Given the description of an element on the screen output the (x, y) to click on. 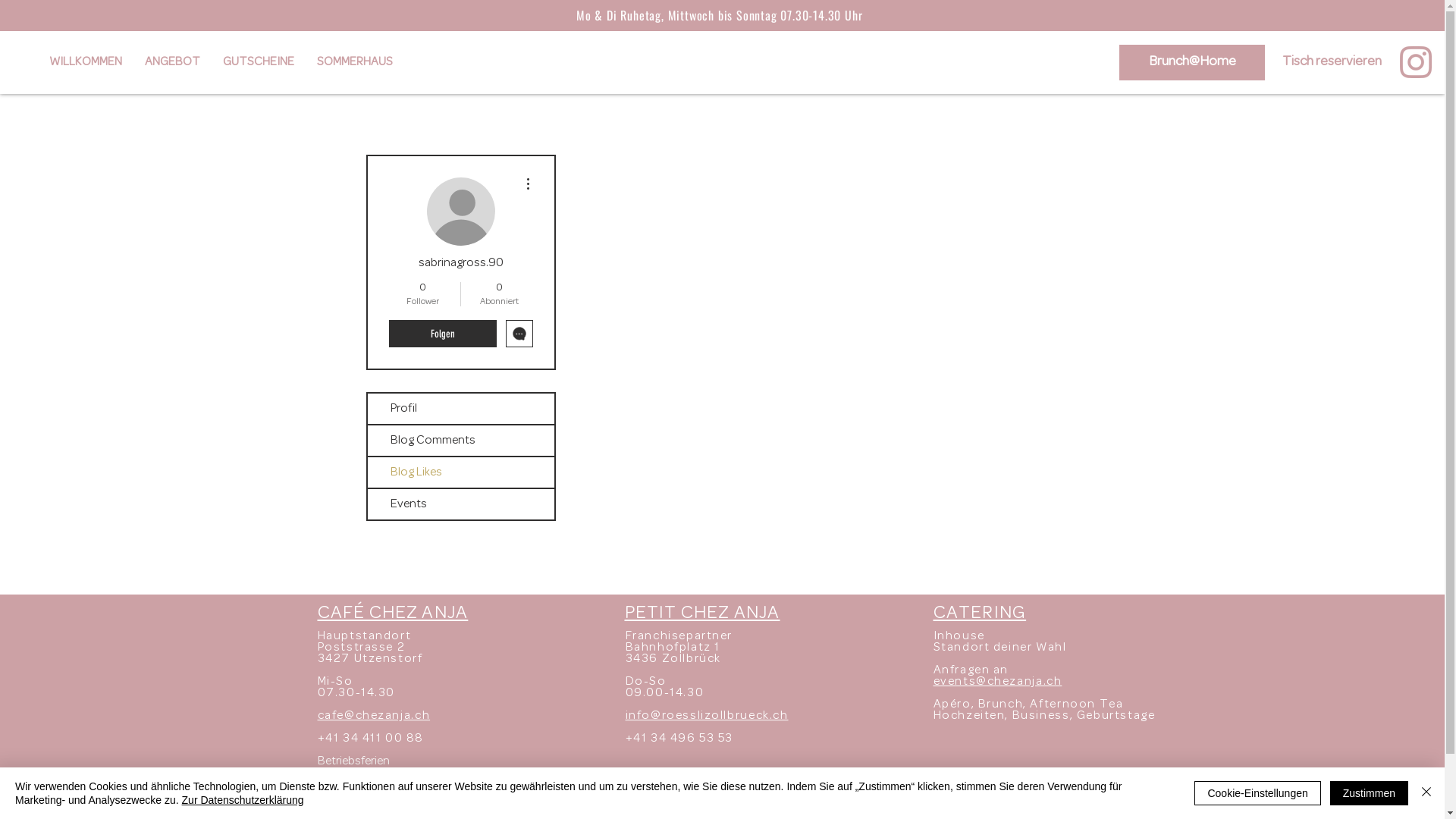
0
Abonniert Element type: text (499, 293)
0 Element type: text (1194, 61)
0
Follower Element type: text (421, 293)
Folgen Element type: text (441, 333)
events@chezanja.ch Element type: text (996, 681)
SOMMERHAUS Element type: text (354, 62)
Brunch@Home Element type: text (1191, 62)
PETIT CHEZ ANJA Element type: text (702, 613)
Profil Element type: text (460, 408)
Events Element type: text (460, 504)
Tisch reservieren Element type: text (1331, 62)
Blog Comments Element type: text (460, 440)
CATERING Element type: text (979, 613)
info@roesslizollbrueck.ch Element type: text (705, 715)
cafe@chezanja.ch Element type: text (372, 715)
Blog Likes Element type: text (460, 472)
GUTSCHEINE Element type: text (258, 62)
WILLKOMMEN Element type: text (85, 62)
